Given the description of an element on the screen output the (x, y) to click on. 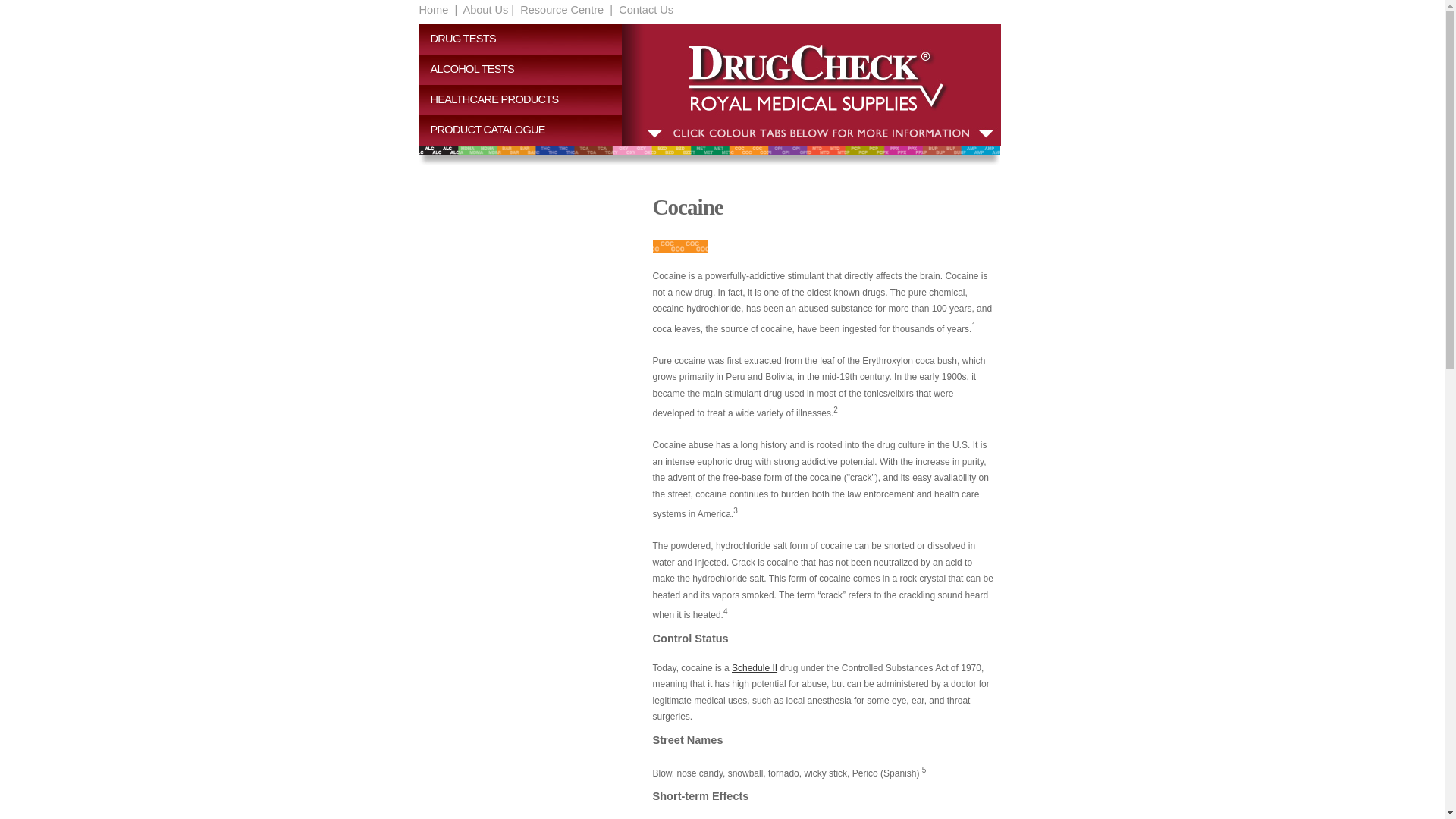
 Contact Us Element type: text (644, 9)
Home  | Element type: text (437, 9)
DRUG TESTS Element type: text (526, 39)
 About Us | Element type: text (487, 9)
ALCOHOL TESTS Element type: text (526, 69)
HEALTHCARE PRODUCTS Element type: text (526, 99)
 Resource Centre  | Element type: text (564, 9)
PRODUCT CATALOGUE Element type: text (526, 130)
Schedule II Element type: text (754, 667)
